Given the description of an element on the screen output the (x, y) to click on. 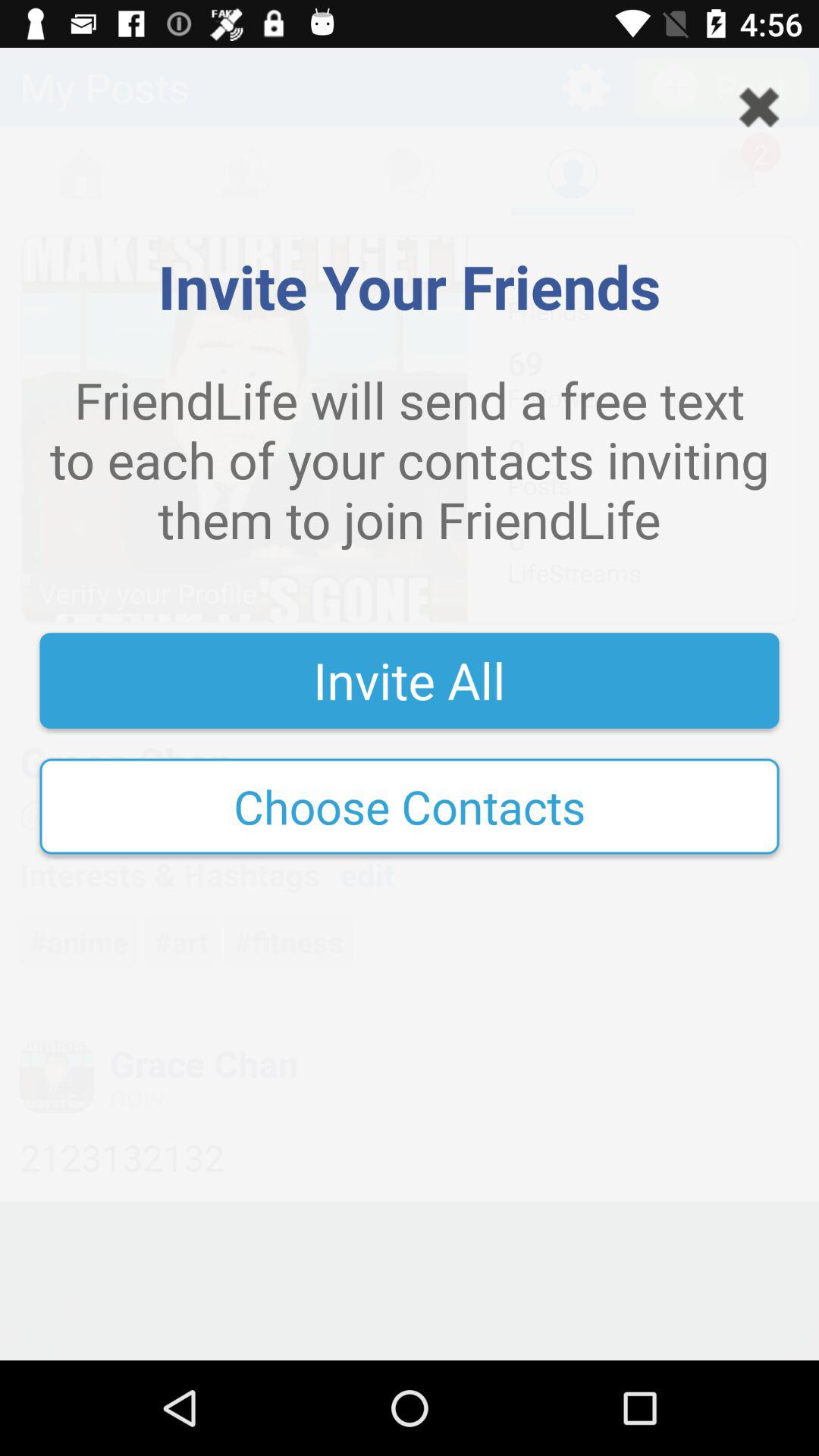
turn off the item above the friendlife will send icon (759, 107)
